Given the description of an element on the screen output the (x, y) to click on. 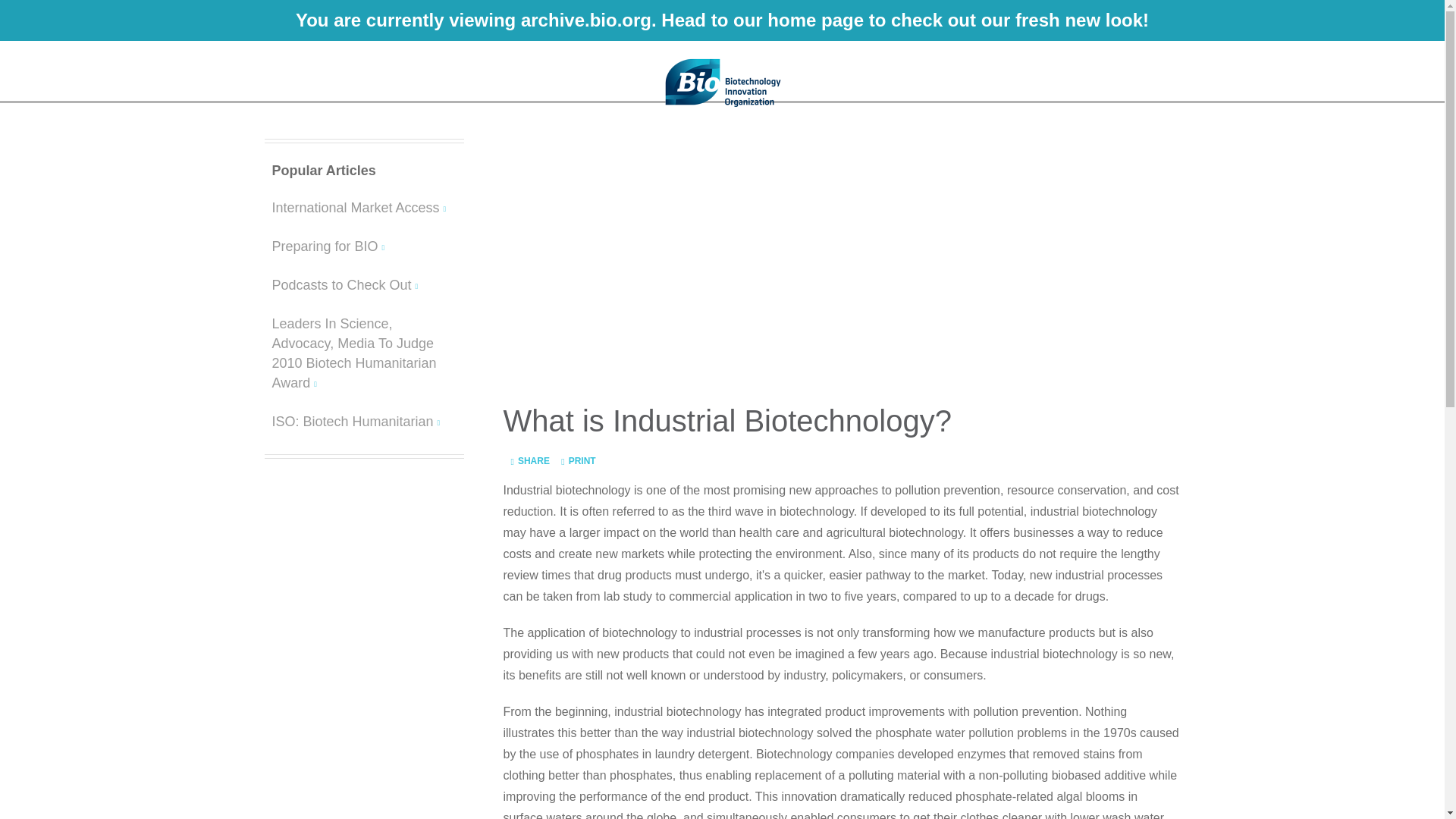
SHARE (532, 460)
Home (722, 80)
Preparing for BIO (362, 246)
ISO: Biotech Humanitarian (362, 421)
International Market Access (362, 207)
Podcasts to Check Out (362, 284)
PRINT (573, 460)
